Given the description of an element on the screen output the (x, y) to click on. 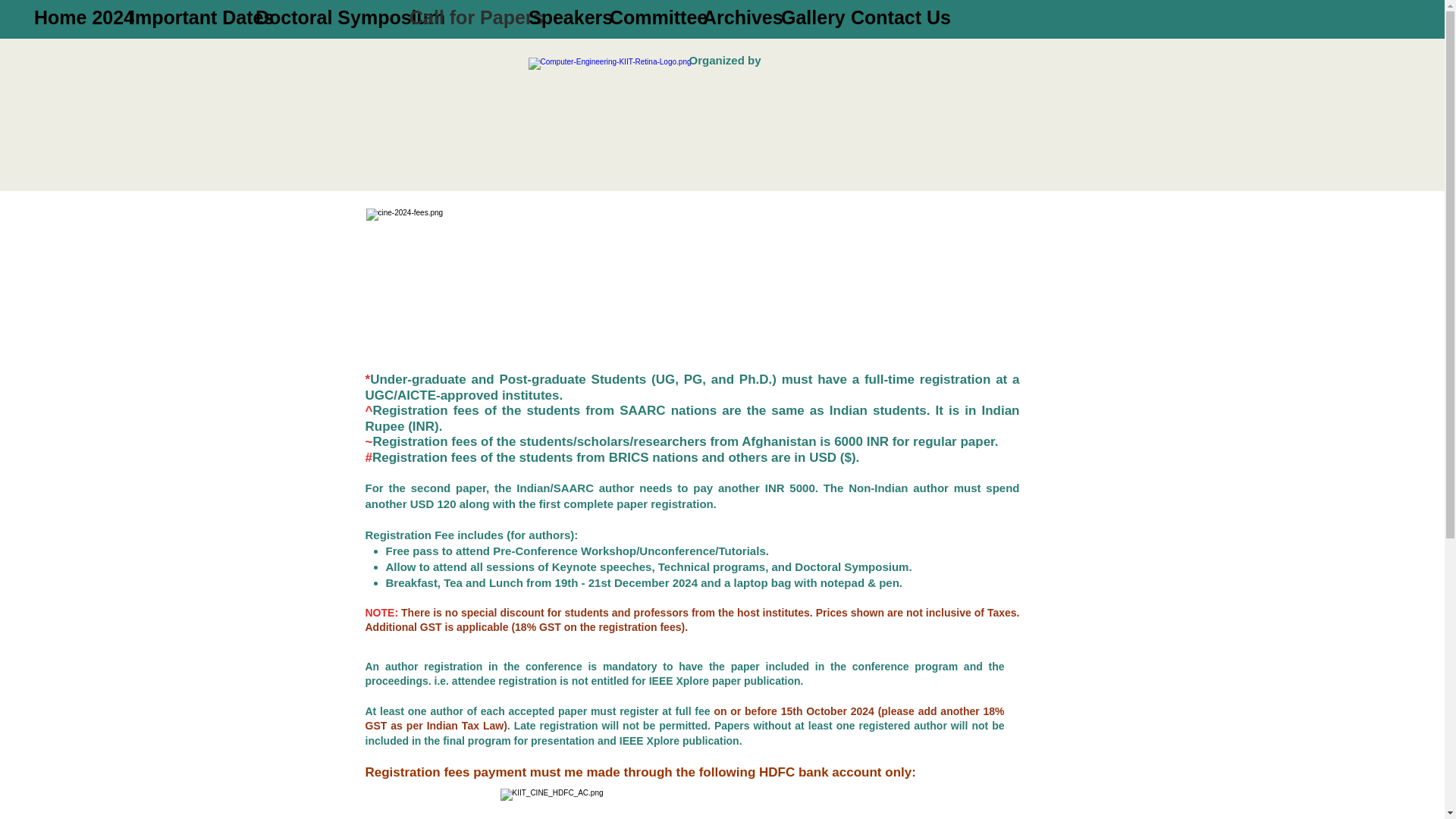
Doctoral Symposium (320, 17)
Speakers (557, 17)
Contact Us (885, 17)
Call for Papers (456, 17)
Archives (730, 17)
Home 2024 (70, 17)
Committee (644, 17)
Gallery (805, 17)
Important Dates (180, 17)
